Given the description of an element on the screen output the (x, y) to click on. 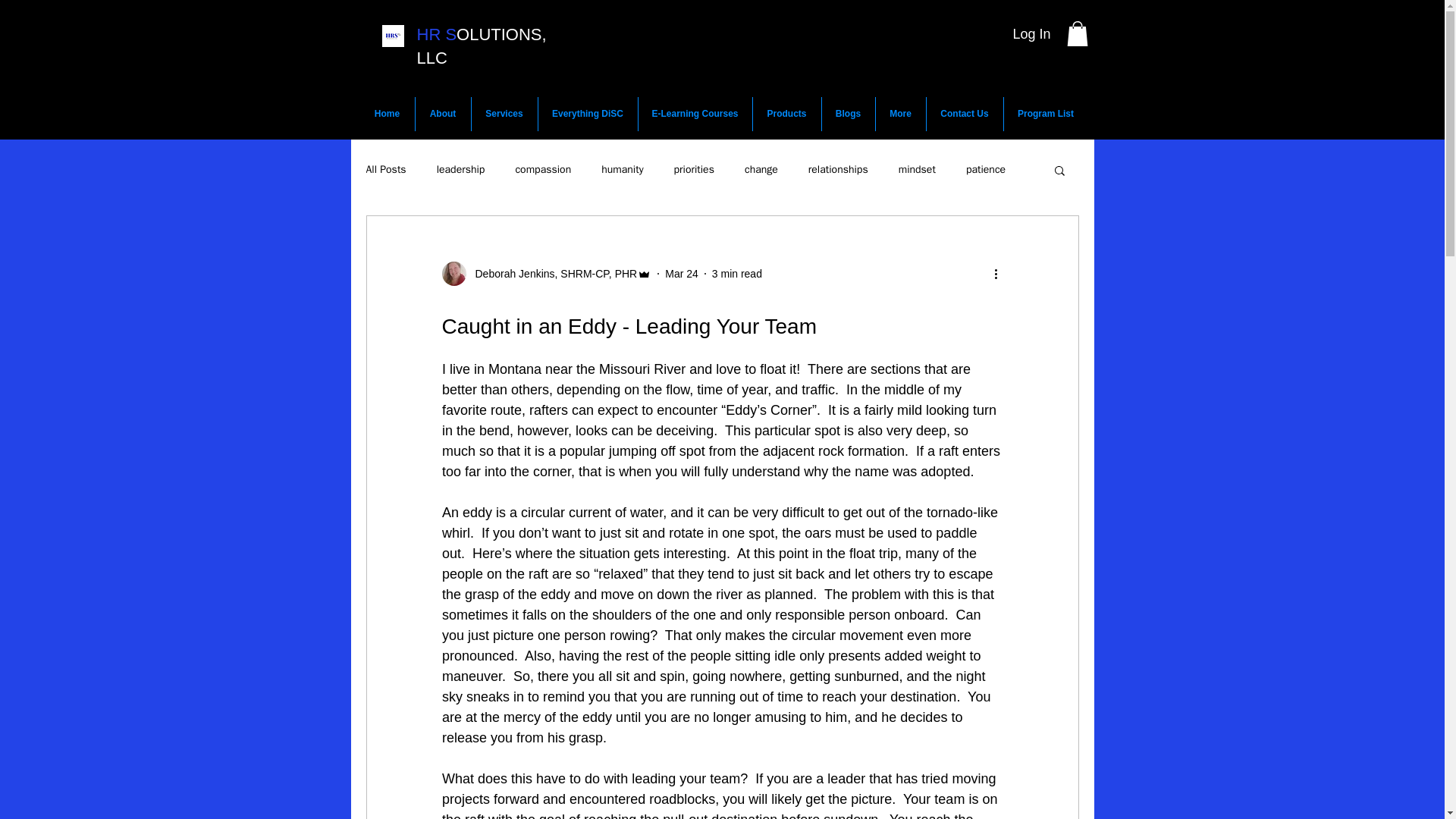
Deborah Jenkins, SHRM-CP, PHR (551, 273)
humanity (622, 169)
Contact Us (964, 114)
All Posts (385, 169)
Mar 24 (681, 273)
OLUTIONS, LLC (481, 46)
leadership (460, 169)
Program List (1045, 114)
Blogs (848, 114)
compassion (542, 169)
relationships (837, 169)
3 min read (736, 273)
Log In (1016, 34)
priorities (694, 169)
HR S (436, 34)
